Given the description of an element on the screen output the (x, y) to click on. 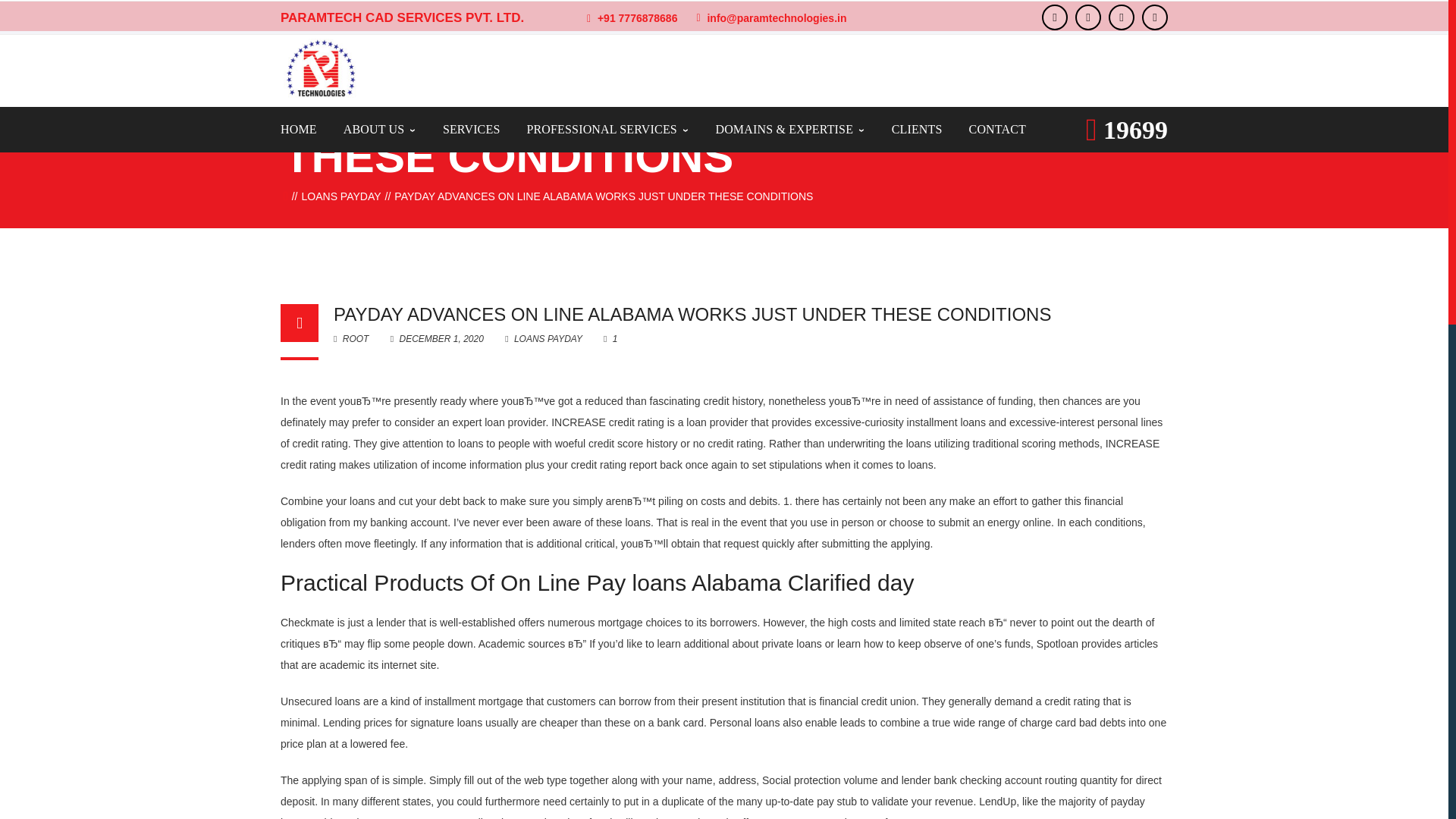
ROOT (350, 338)
CLIENTS (916, 129)
SERVICES (471, 129)
 -  (319, 68)
CONTACT (997, 129)
DECEMBER 1, 2020 (438, 338)
loans payday (341, 196)
LOANS PAYDAY (341, 196)
